Given the description of an element on the screen output the (x, y) to click on. 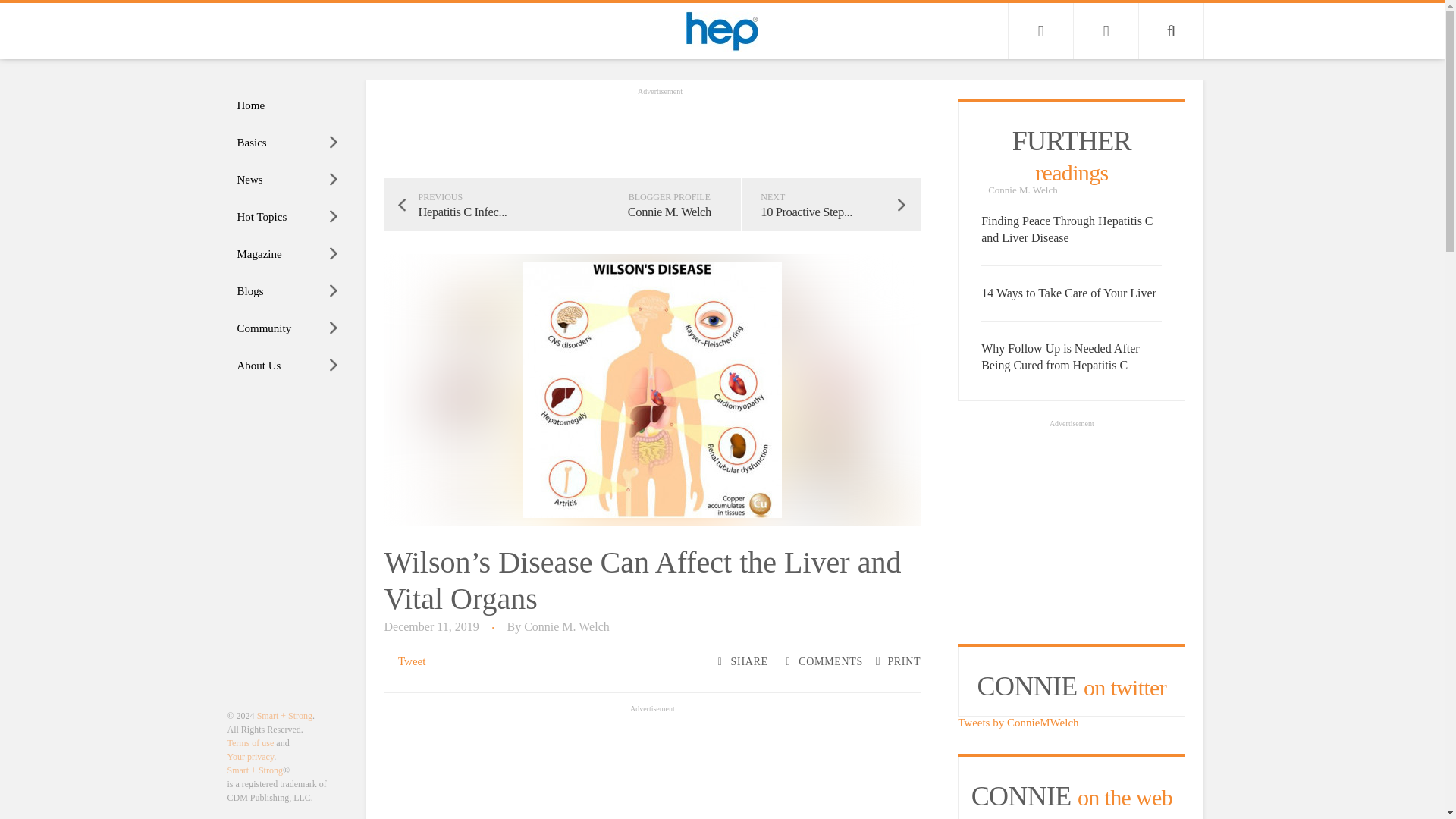
News (288, 180)
3rd party ad content (660, 132)
3rd party ad content (1071, 525)
Hot Topics (288, 217)
Basics (288, 142)
3rd party ad content (651, 767)
Home (288, 105)
